Given the description of an element on the screen output the (x, y) to click on. 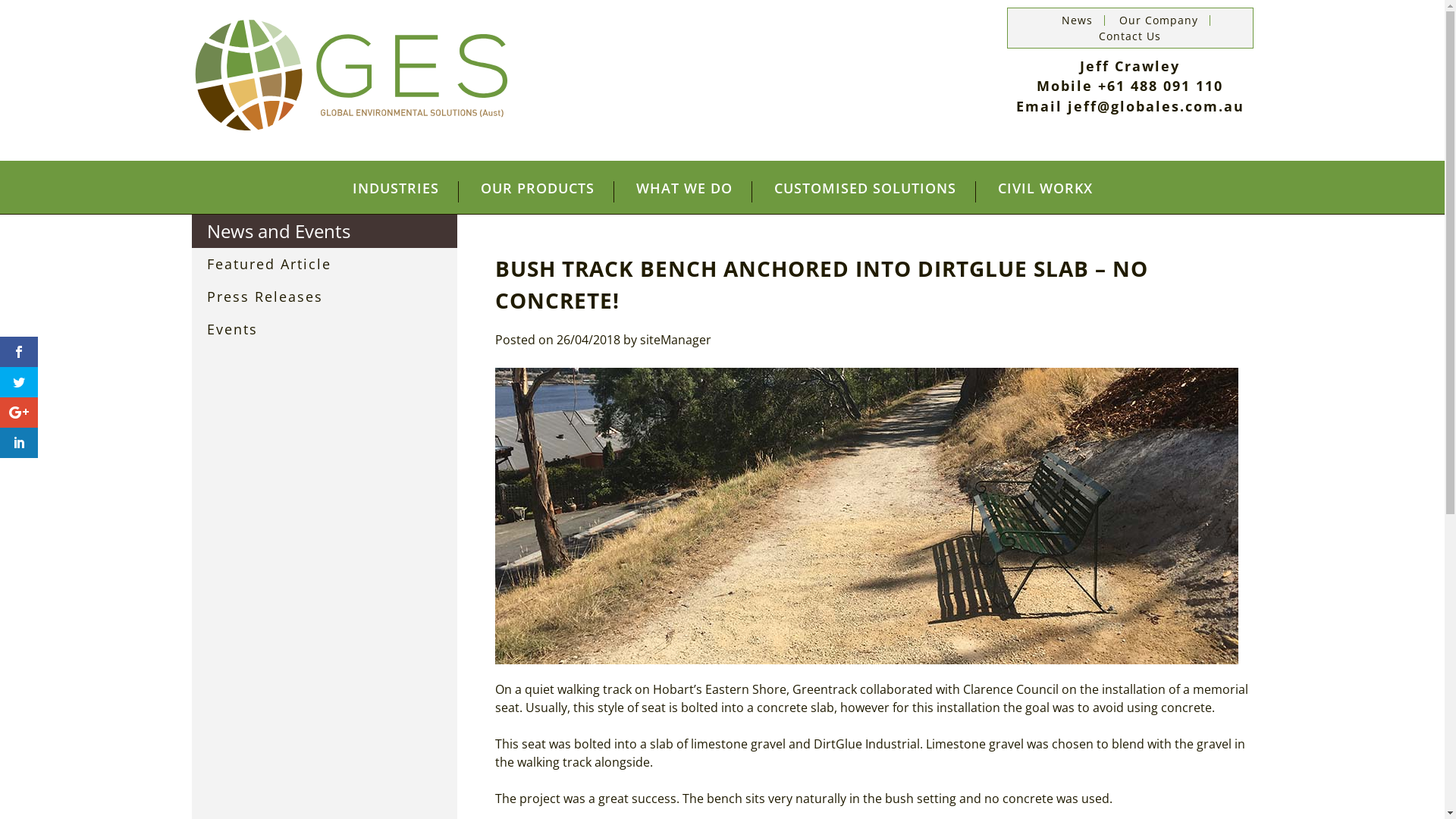
26/04/2018 Element type: text (588, 338)
CIVIL WORKX Element type: text (1044, 191)
OUR PRODUCTS Element type: text (537, 191)
News Element type: text (1076, 20)
Featured Article Element type: text (323, 263)
siteManager Element type: text (675, 338)
Our Company Element type: text (1158, 20)
CUSTOMISED SOLUTIONS Element type: text (865, 191)
Events Element type: text (323, 329)
WHAT WE DO Element type: text (684, 191)
Press Releases Element type: text (323, 296)
INDUSTRIES Element type: text (395, 191)
Contact Us Element type: text (1129, 36)
